Given the description of an element on the screen output the (x, y) to click on. 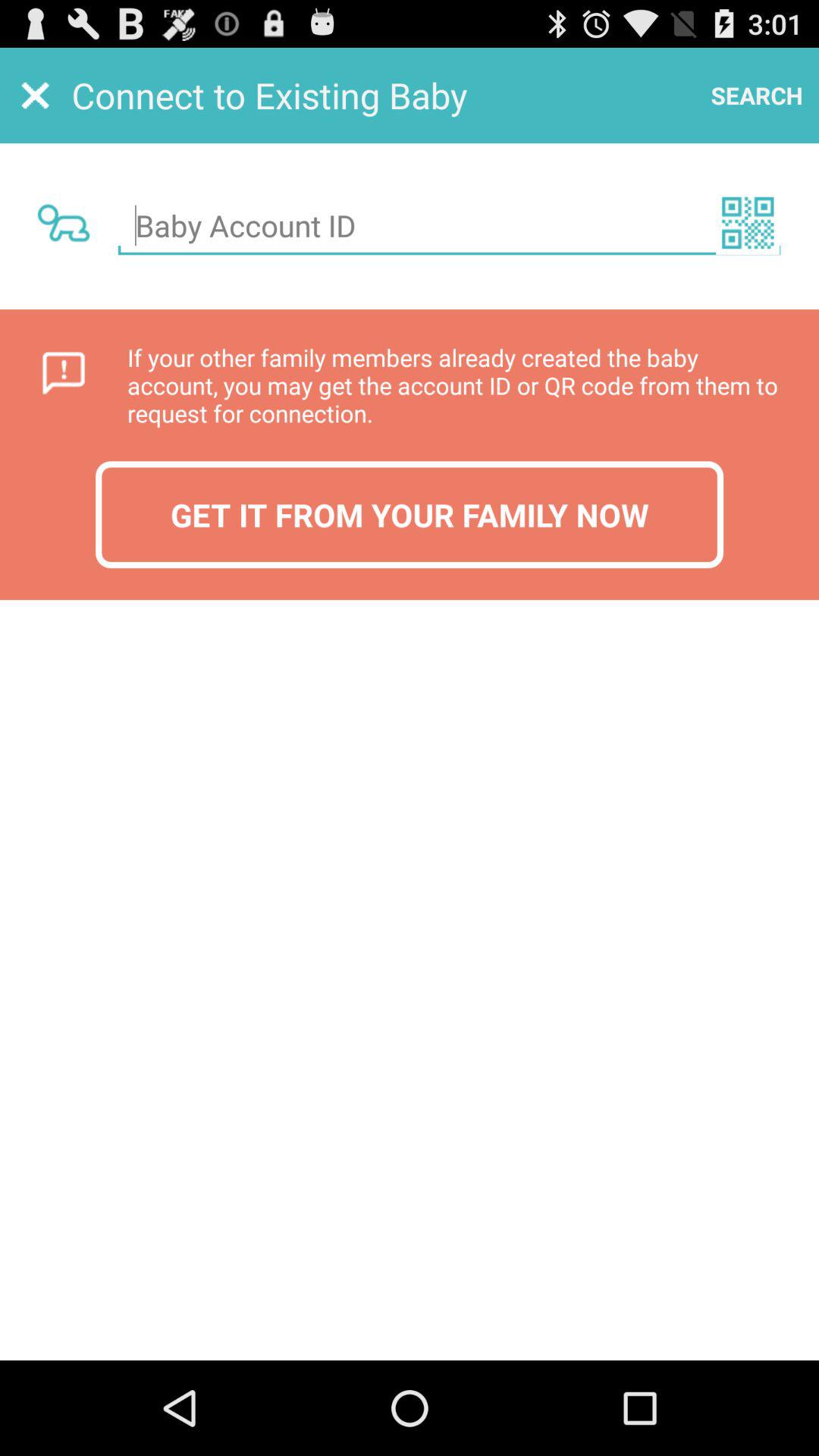
tap the item above if your other (747, 222)
